Given the description of an element on the screen output the (x, y) to click on. 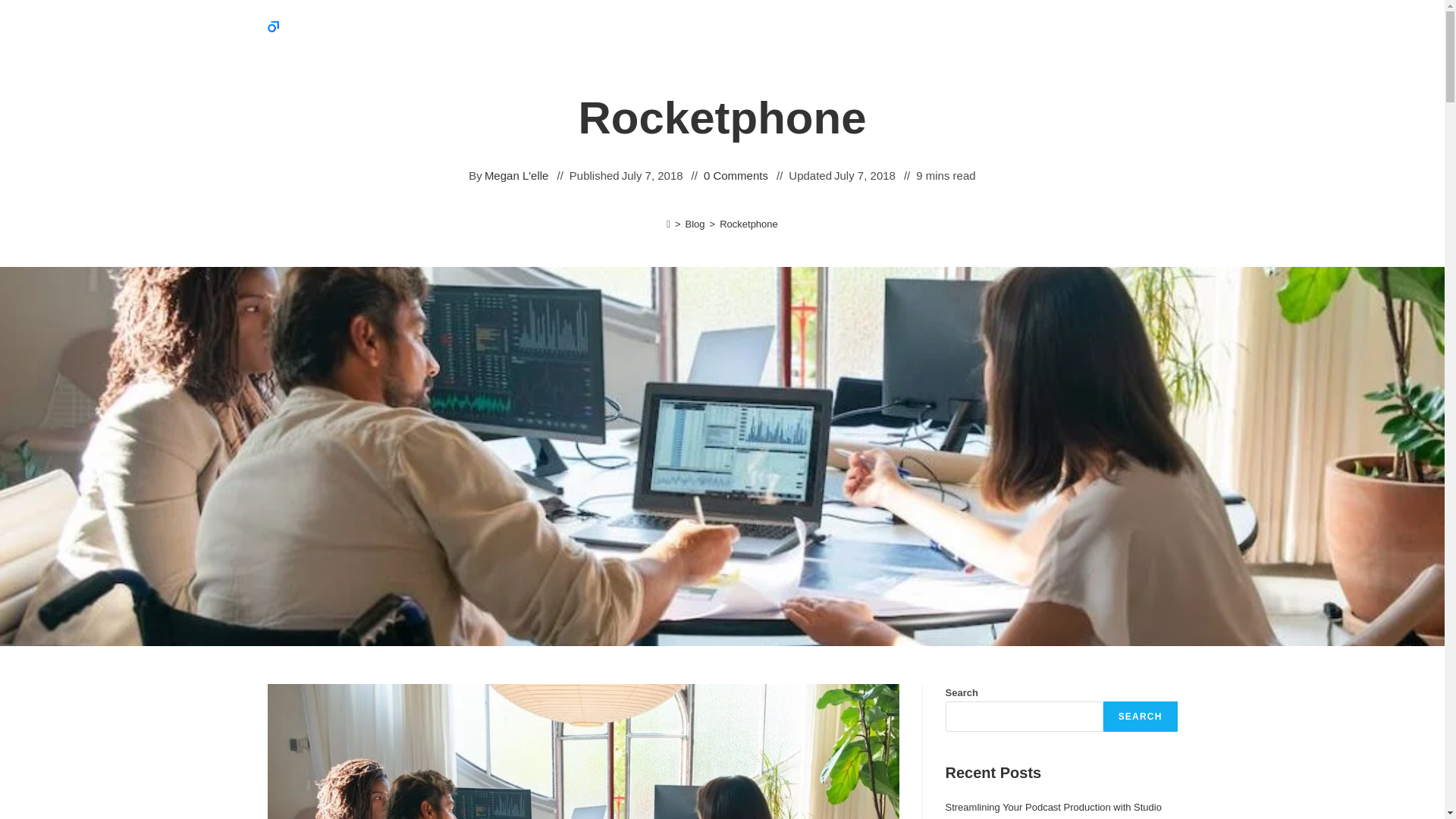
Blog (694, 224)
Streamlining Your Podcast Production with Studio Automation (1052, 810)
Megan L'elle (516, 175)
0 Comments (735, 175)
Rocketphone (748, 224)
SEARCH (1140, 716)
